Given the description of an element on the screen output the (x, y) to click on. 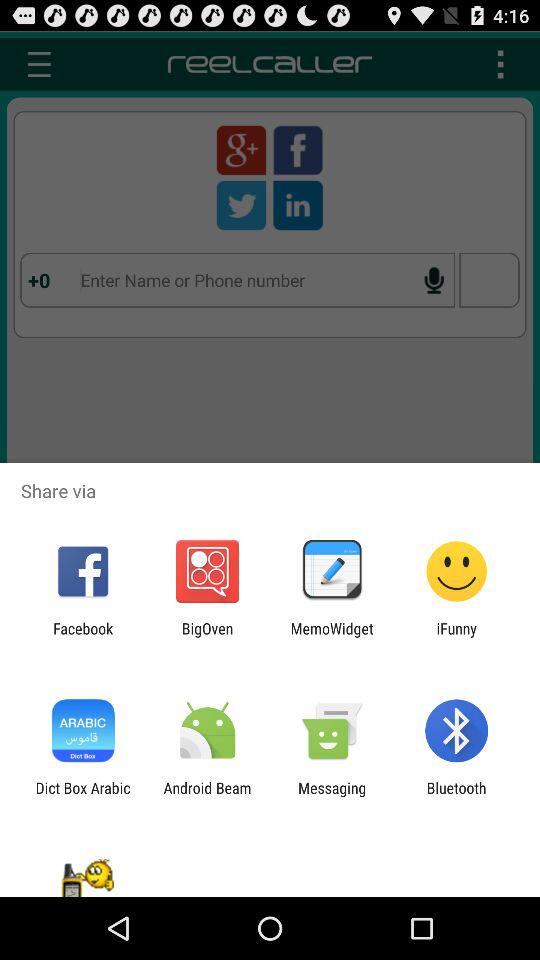
click item next to the facebook icon (207, 637)
